Given the description of an element on the screen output the (x, y) to click on. 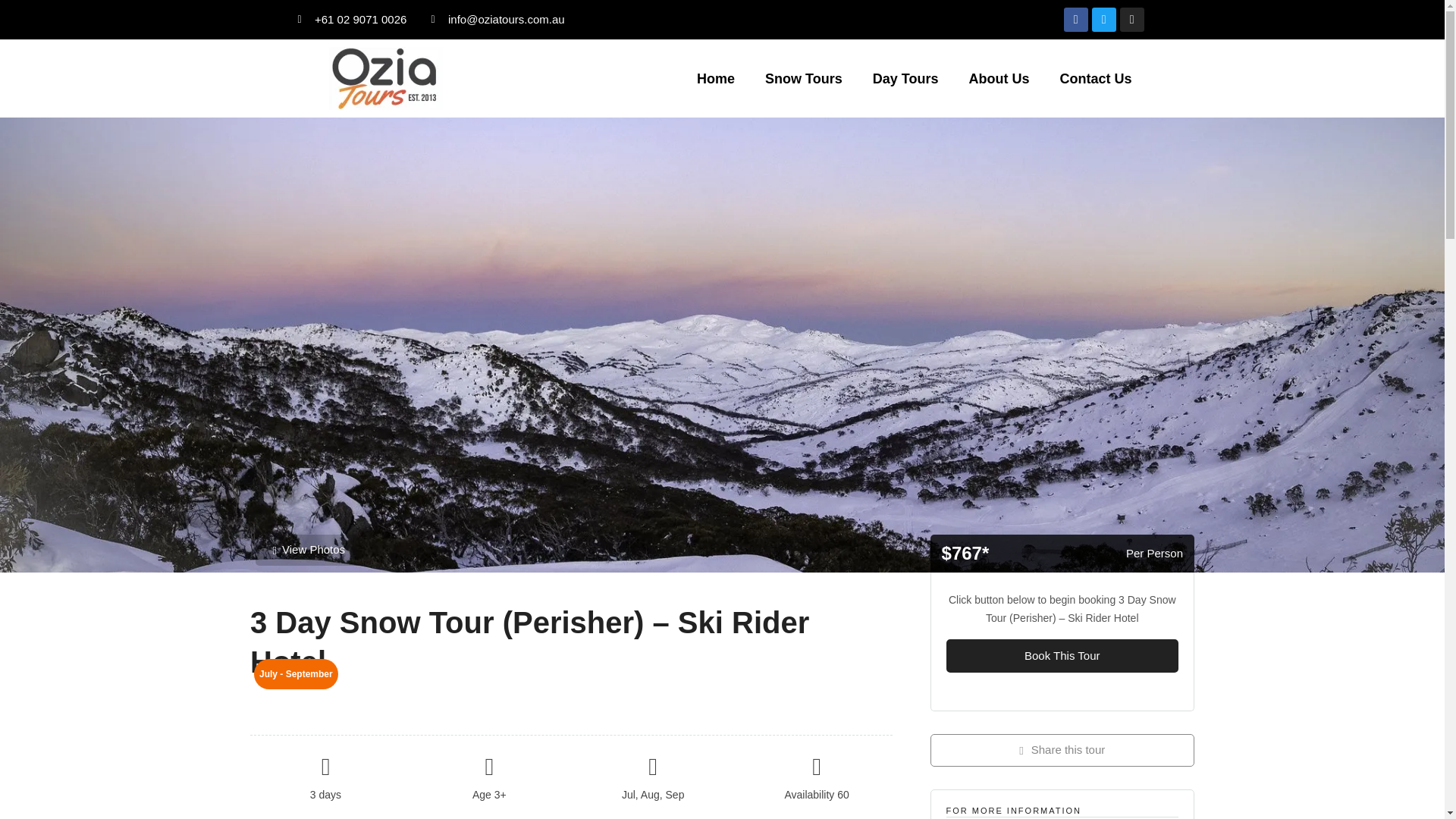
View Photos (309, 549)
Contact Us (1095, 77)
Day Tours (905, 77)
About Us (998, 77)
Snow Tours (803, 77)
Book This Tour (1061, 656)
Share this tour (1061, 749)
Home (715, 77)
